Given the description of an element on the screen output the (x, y) to click on. 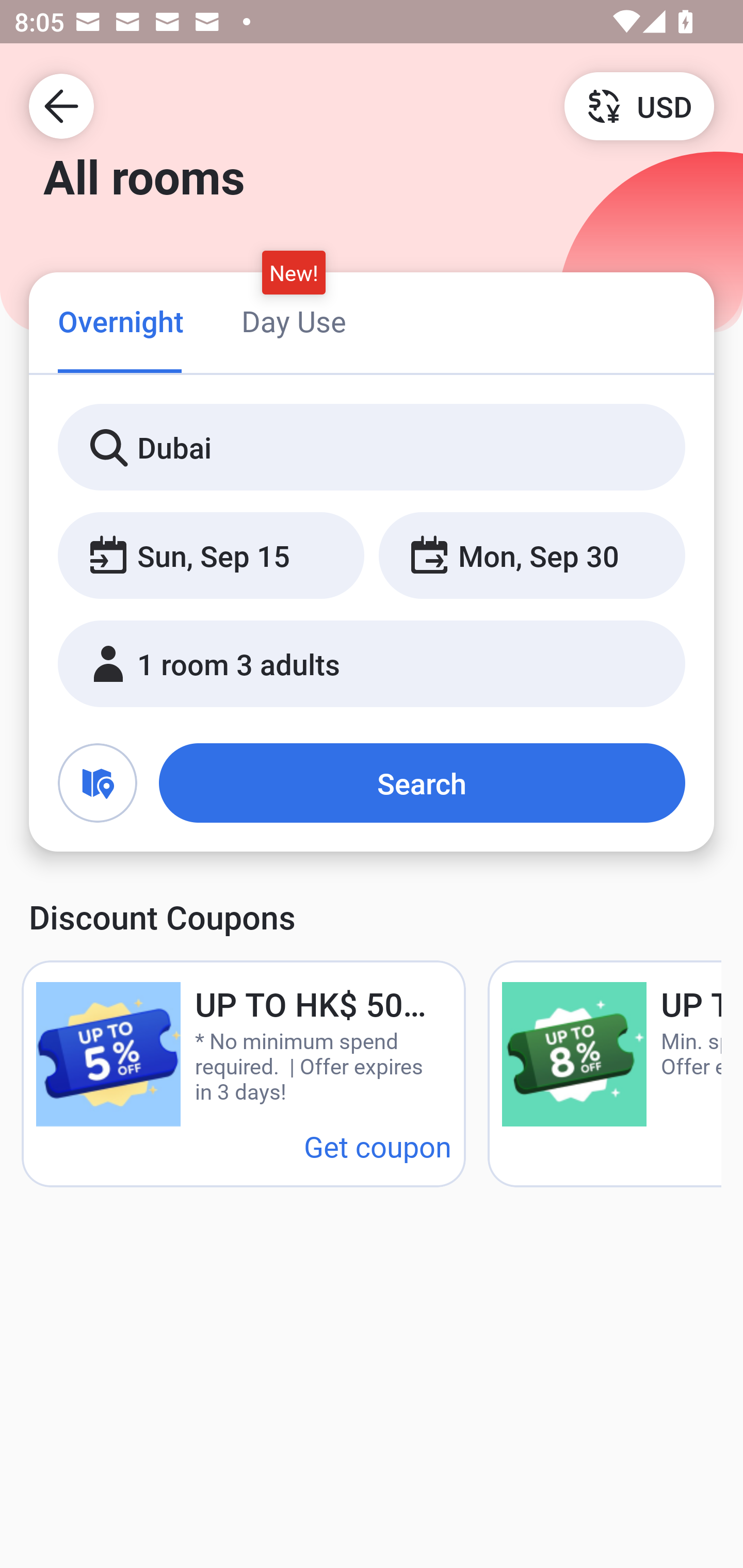
USD (639, 105)
New! (294, 272)
Day Use (293, 321)
Dubai (371, 447)
Sun, Sep 15 (210, 555)
Mon, Sep 30 (531, 555)
1 room 3 adults (371, 663)
Search (422, 783)
Get coupon (377, 1146)
